Given the description of an element on the screen output the (x, y) to click on. 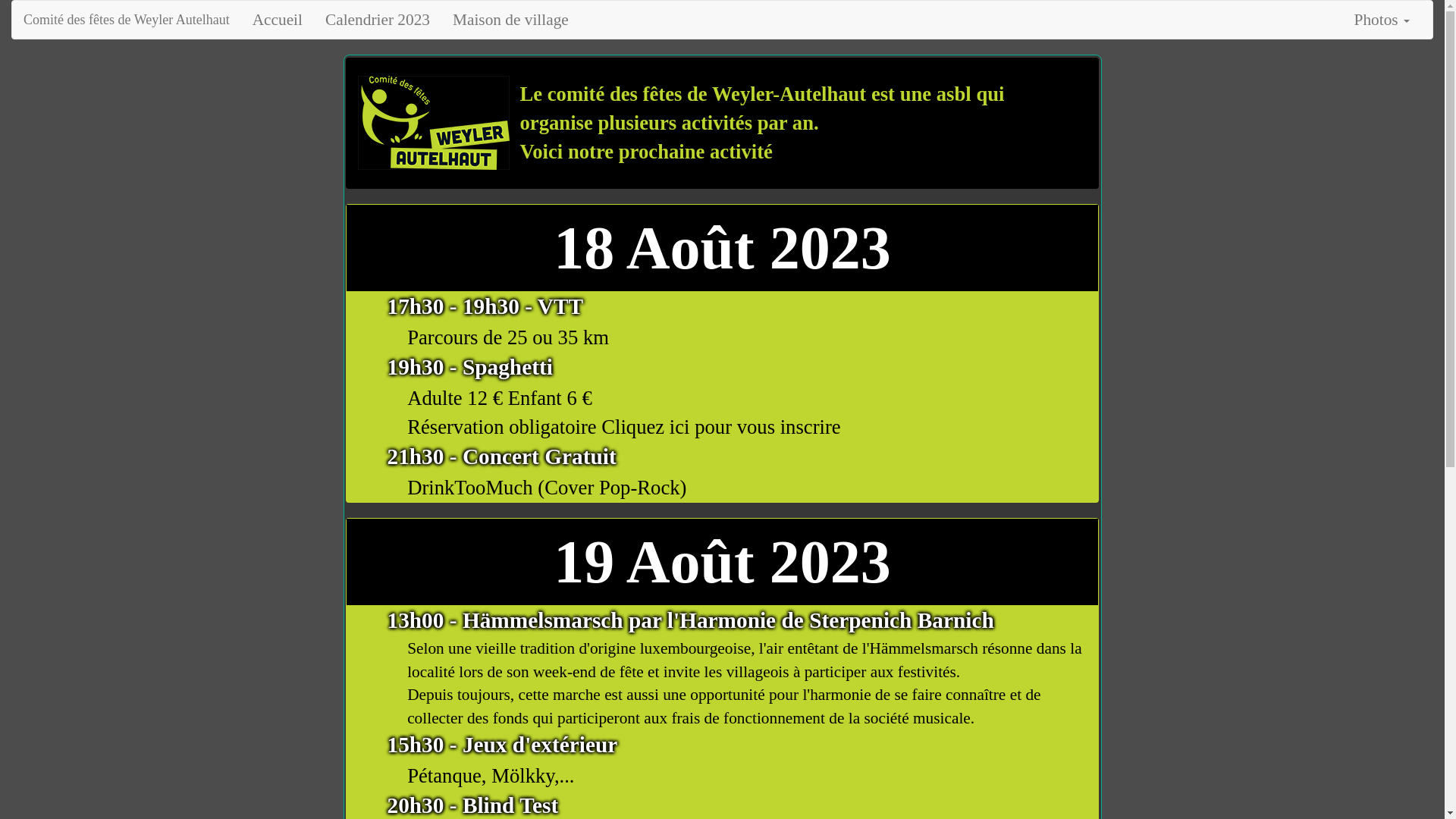
Accueil Element type: text (277, 19)
Photos Element type: text (1382, 19)
Maison de village Element type: text (510, 19)
Cliquez ici pour vous inscrire Element type: text (720, 426)
Calendrier 2023 Element type: text (377, 19)
